Given the description of an element on the screen output the (x, y) to click on. 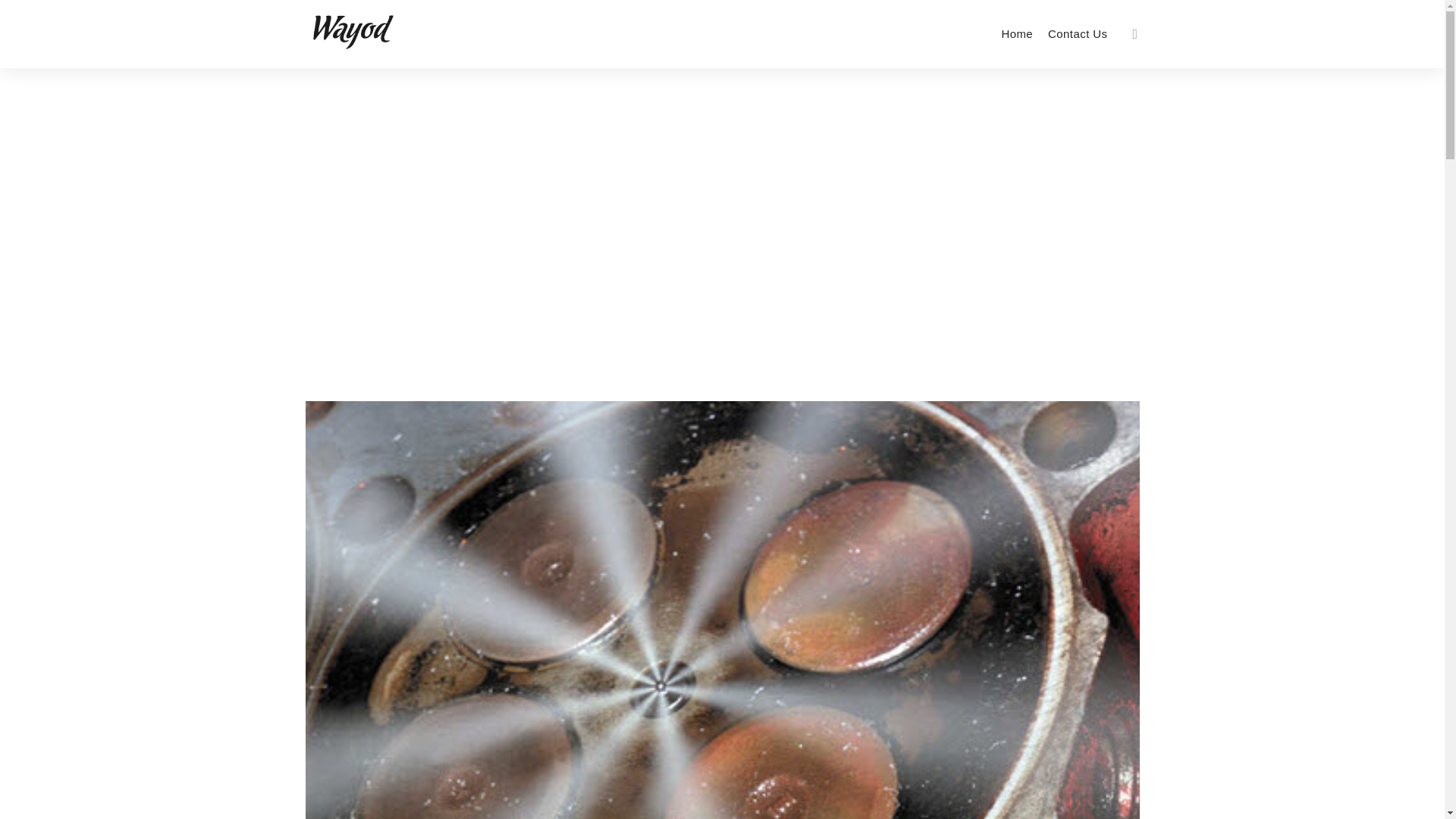
Home (1016, 33)
Contact Us (1078, 33)
Contact Us (1078, 33)
Home (1016, 33)
